Given the description of an element on the screen output the (x, y) to click on. 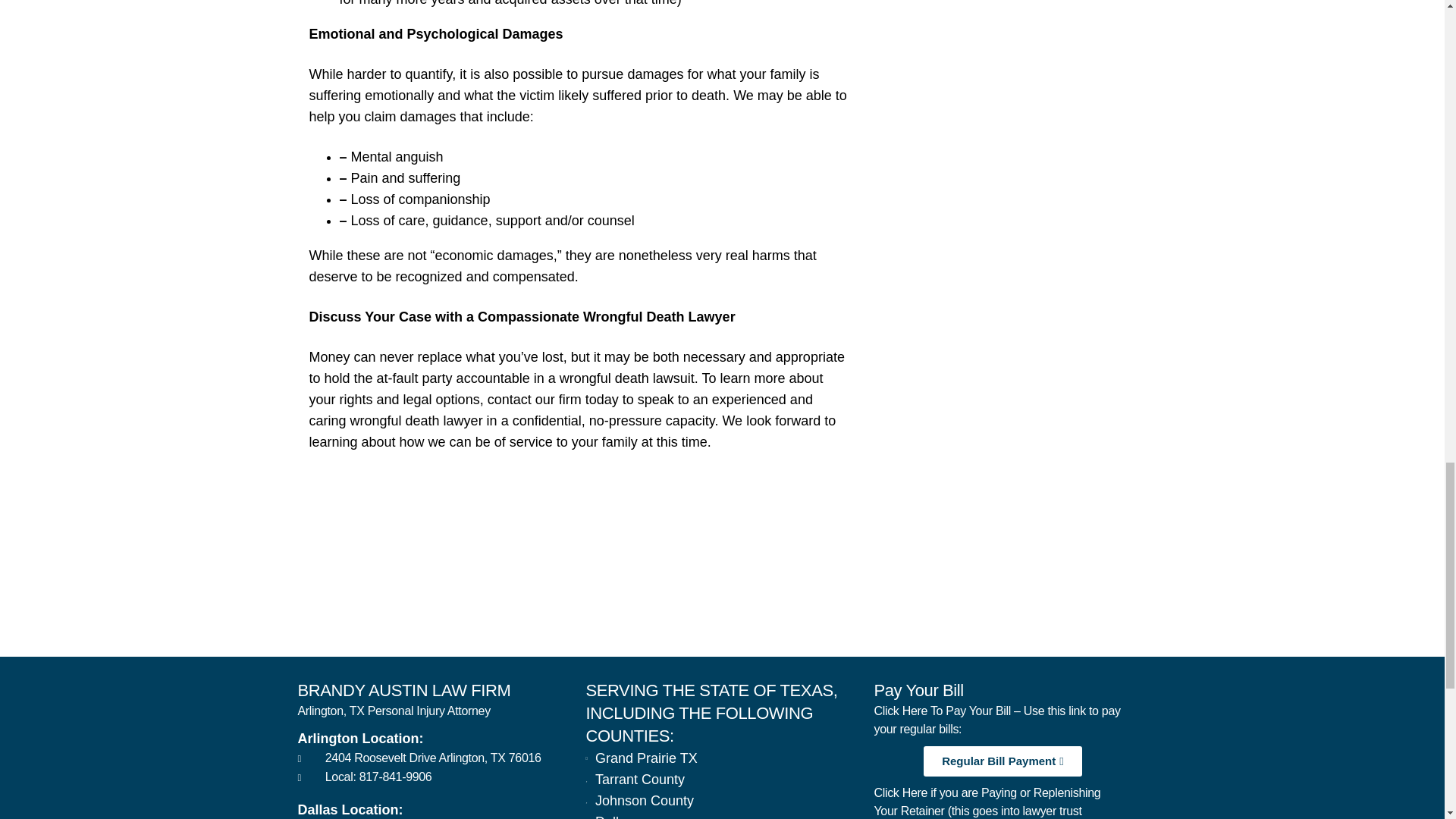
Avvo Rating - Top Attorney (380, 591)
NAELA (1097, 591)
American Institution of Legal Counsel (858, 591)
Super Lawyers (619, 591)
